Given the description of an element on the screen output the (x, y) to click on. 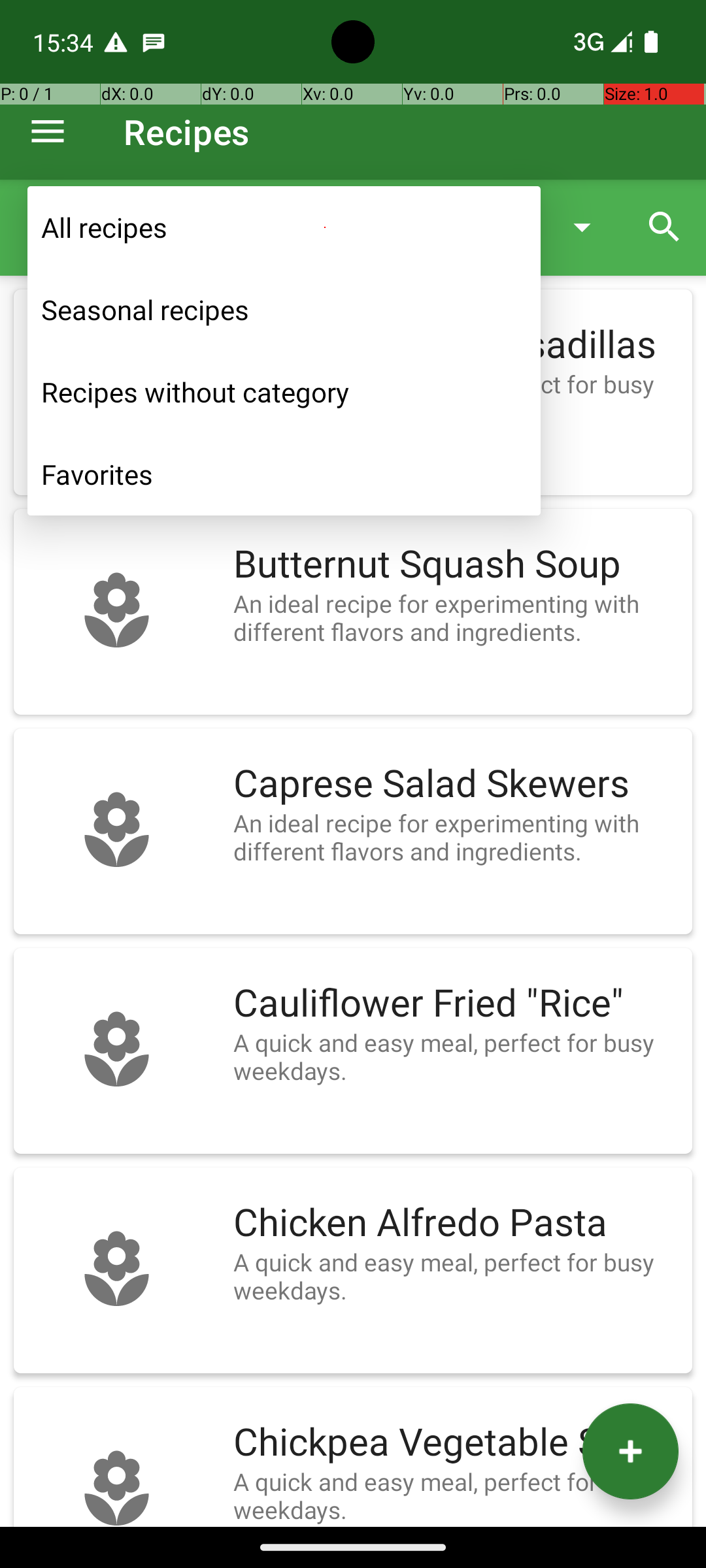
Seasonal recipes Element type: android.widget.CheckedTextView (283, 309)
Recipes without category Element type: android.widget.CheckedTextView (283, 391)
